Given the description of an element on the screen output the (x, y) to click on. 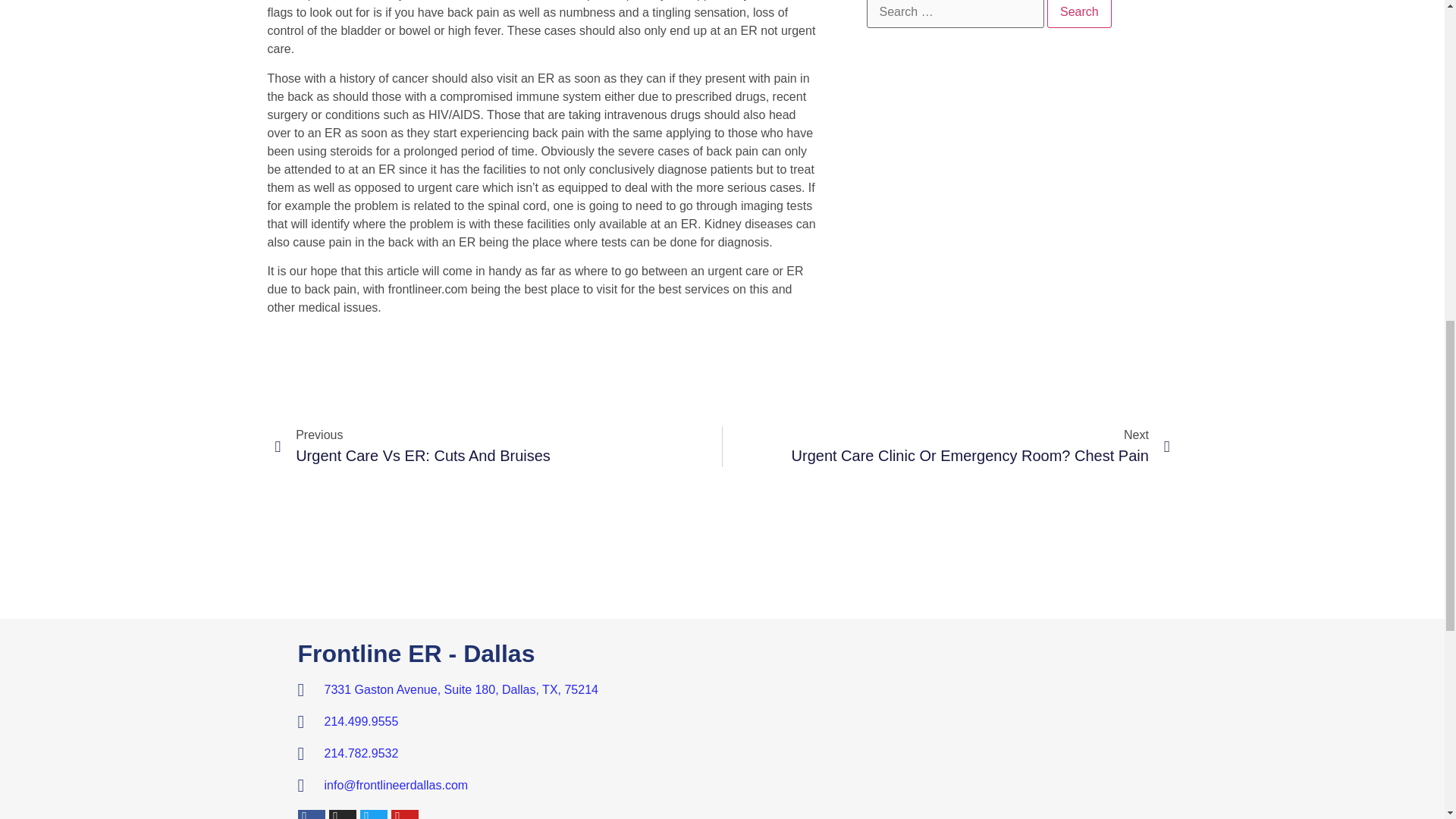
Search (1079, 13)
Search (498, 445)
214.499.9555 (946, 445)
Search (1079, 13)
frontline er, dallas, texas, usa (505, 721)
